Given the description of an element on the screen output the (x, y) to click on. 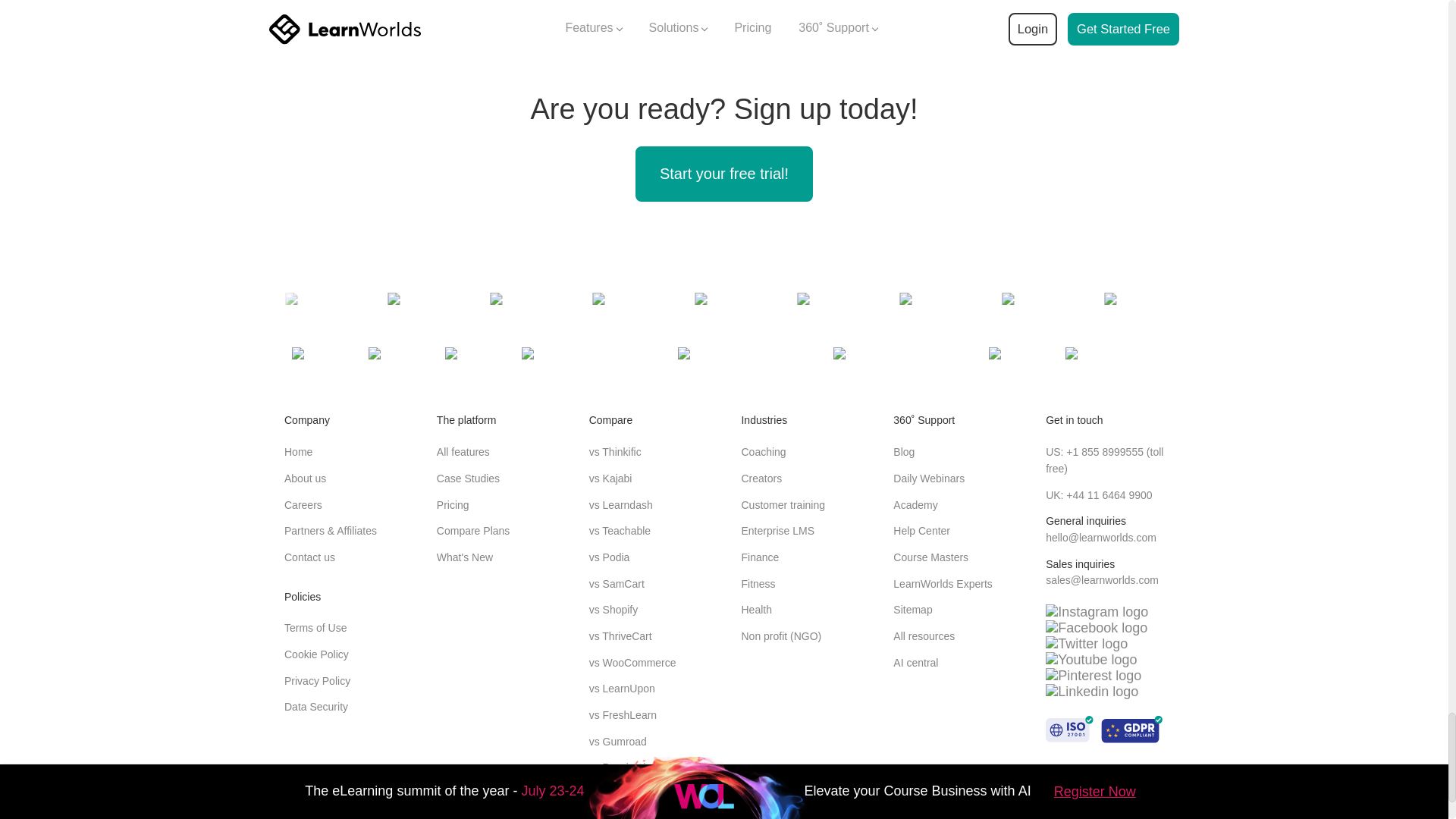
send email to LearnWorlds (1101, 580)
send email to LearnWorlds (1100, 537)
